Given the description of an element on the screen output the (x, y) to click on. 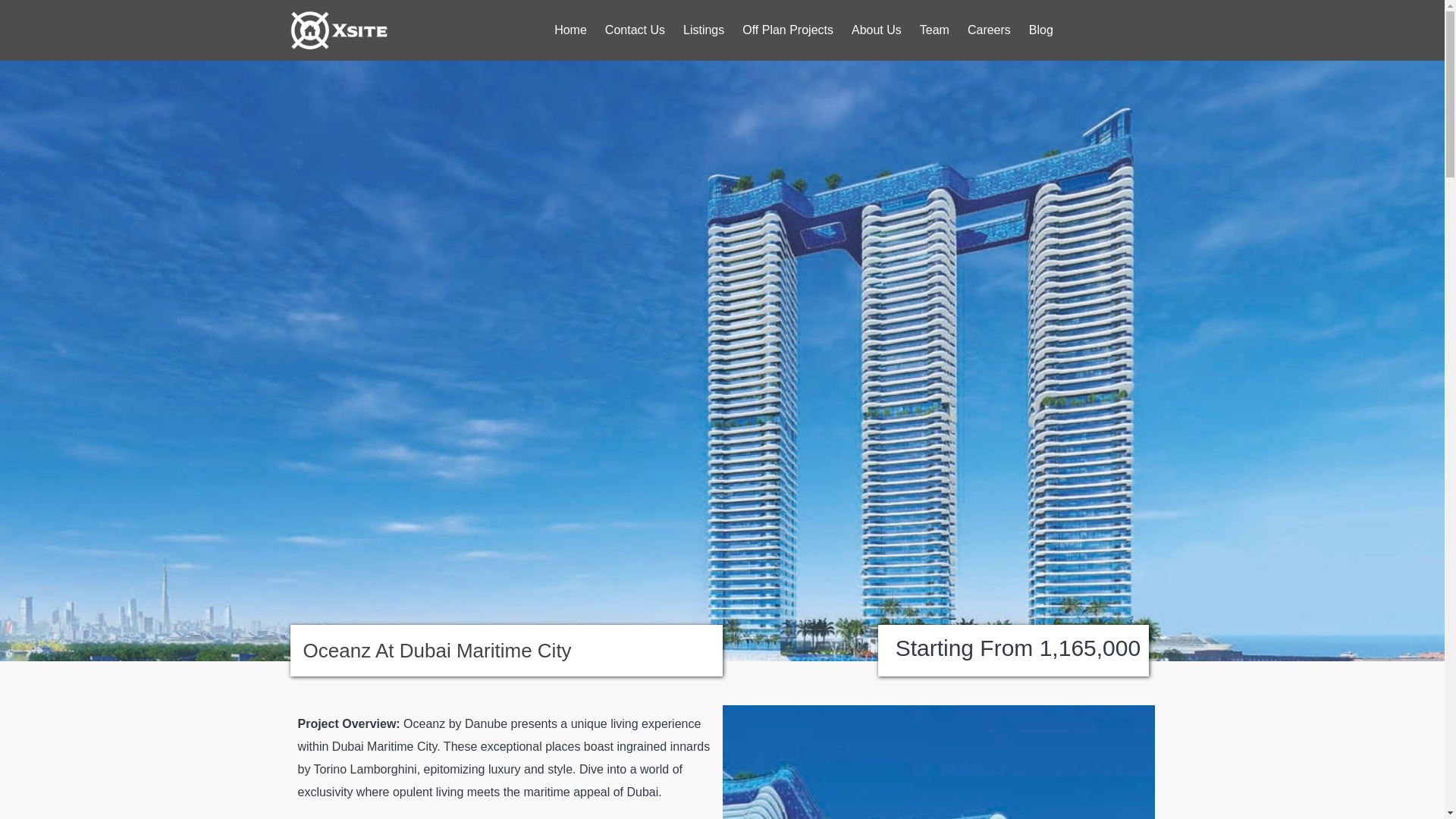
Blog (1041, 30)
About Us (877, 30)
Home (569, 30)
Team (934, 30)
Careers (989, 30)
Off Plan Projects (788, 30)
Contact Us (634, 30)
Listings (703, 30)
